Given the description of an element on the screen output the (x, y) to click on. 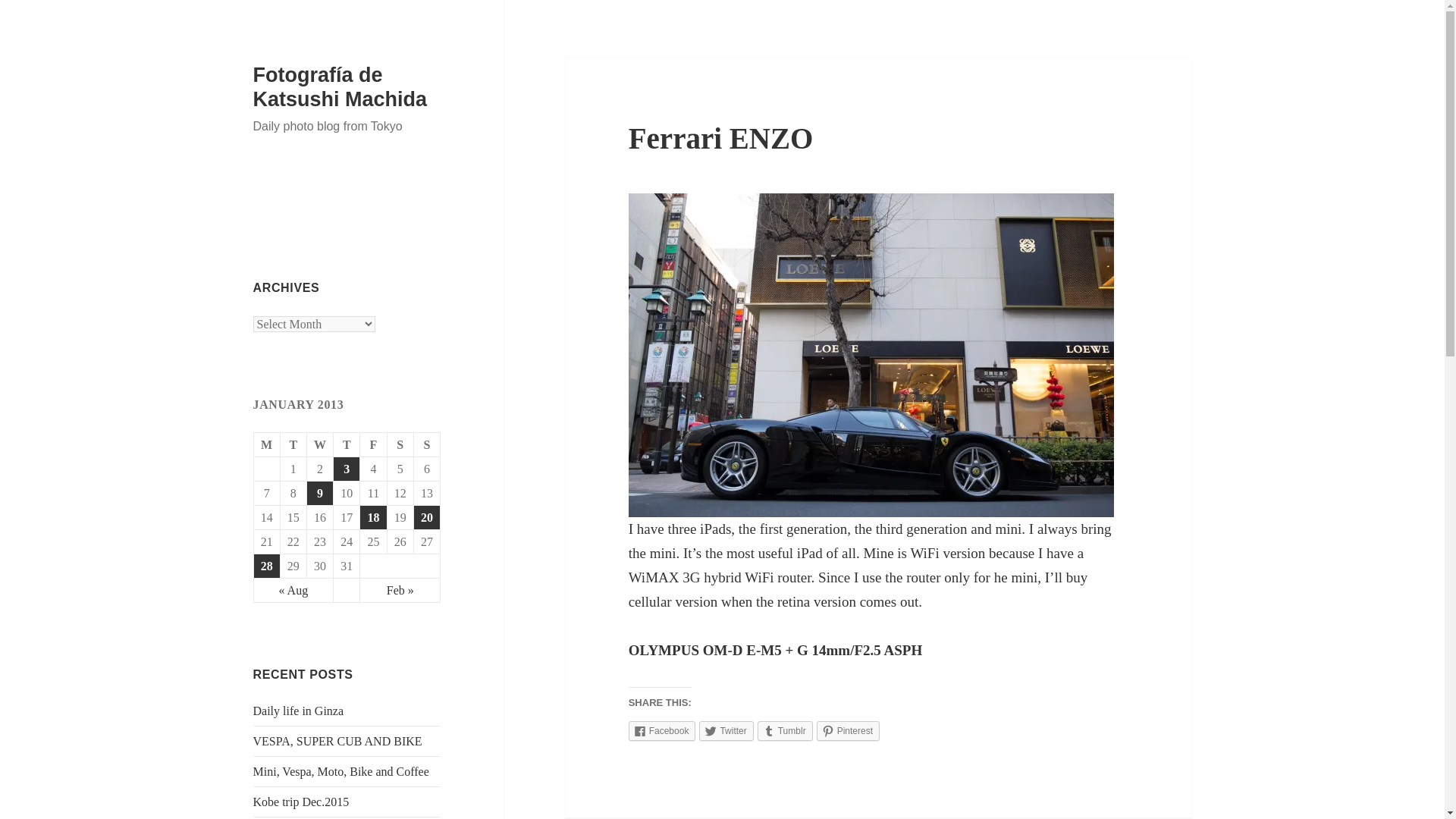
VESPA, SUPER CUB AND BIKE (337, 740)
Click to share on Tumblr (784, 731)
28 (266, 566)
Wednesday (320, 445)
20 (426, 517)
Click to share on Facebook (661, 731)
Friday (373, 445)
Daily life in Ginza (298, 710)
Saturday (400, 445)
Tuesday (294, 445)
